Given the description of an element on the screen output the (x, y) to click on. 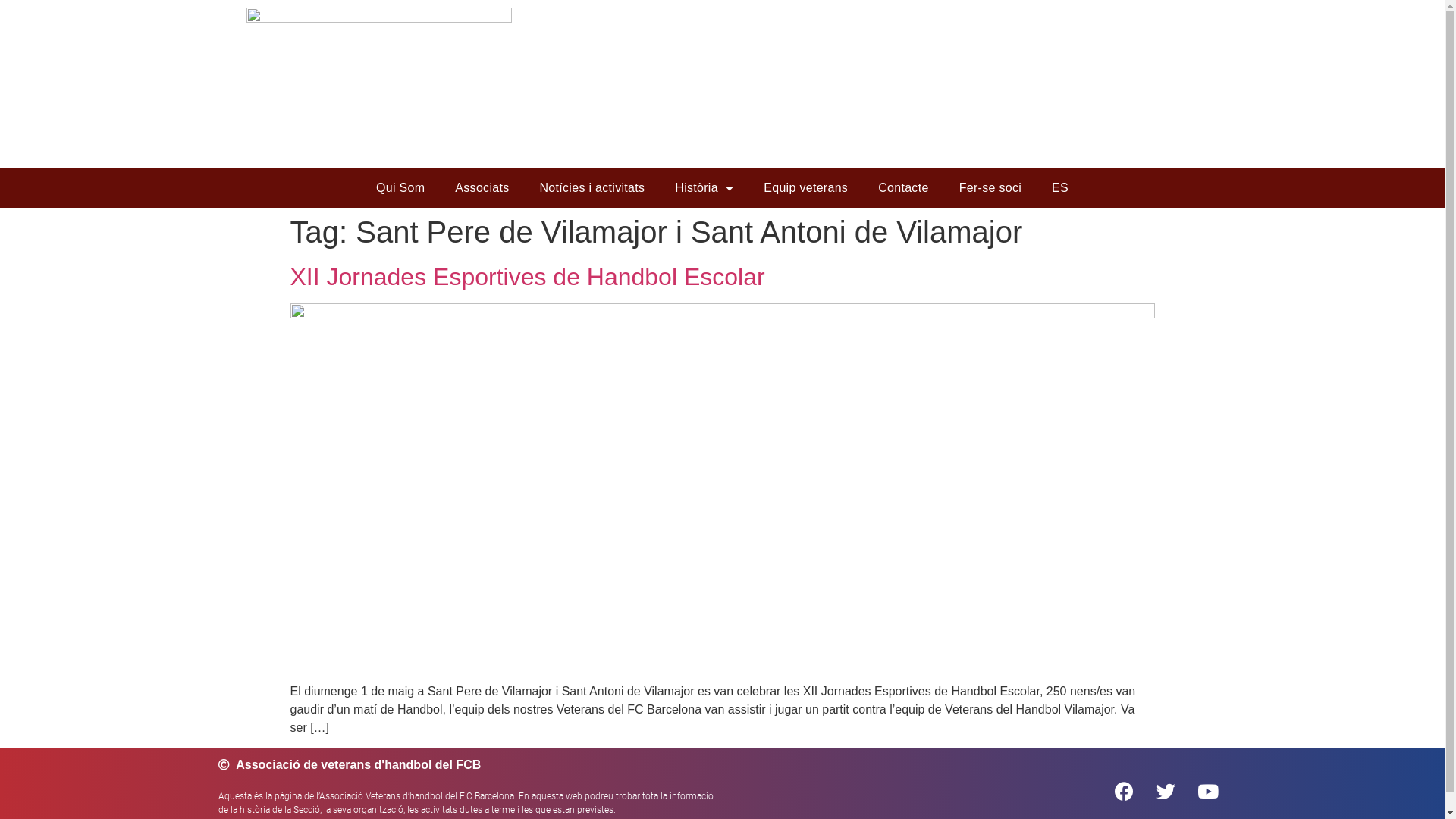
Qui Som Element type: text (399, 187)
Fer-se soci Element type: text (990, 187)
Associats Element type: text (481, 187)
ES Element type: text (1059, 187)
XII Jornades Esportives de Handbol Escolar Element type: text (526, 276)
Contacte Element type: text (902, 187)
Equip veterans Element type: text (805, 187)
